Given the description of an element on the screen output the (x, y) to click on. 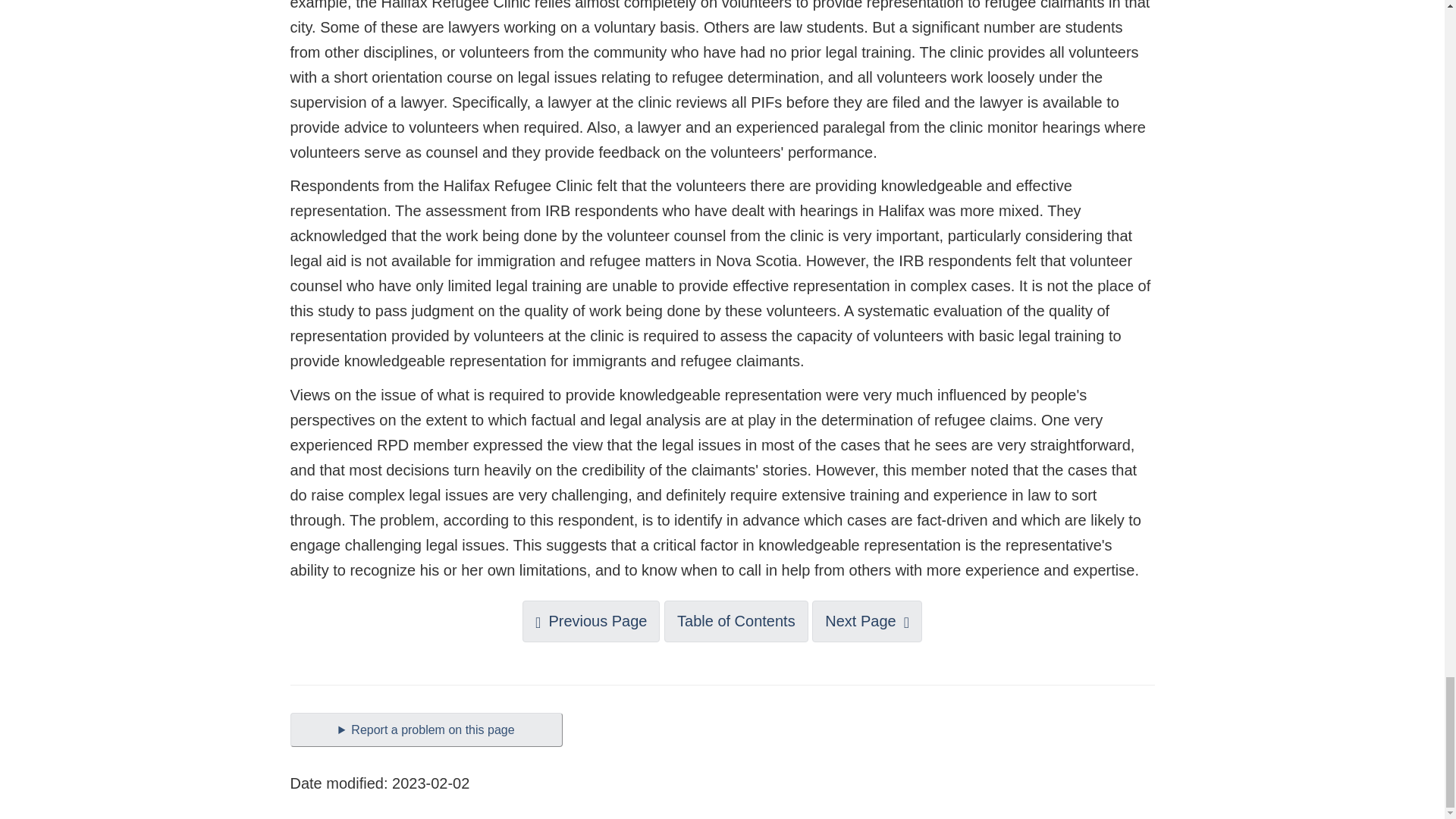
Table of Contents (735, 621)
Next Page (866, 621)
Previous Page (590, 621)
